Given the description of an element on the screen output the (x, y) to click on. 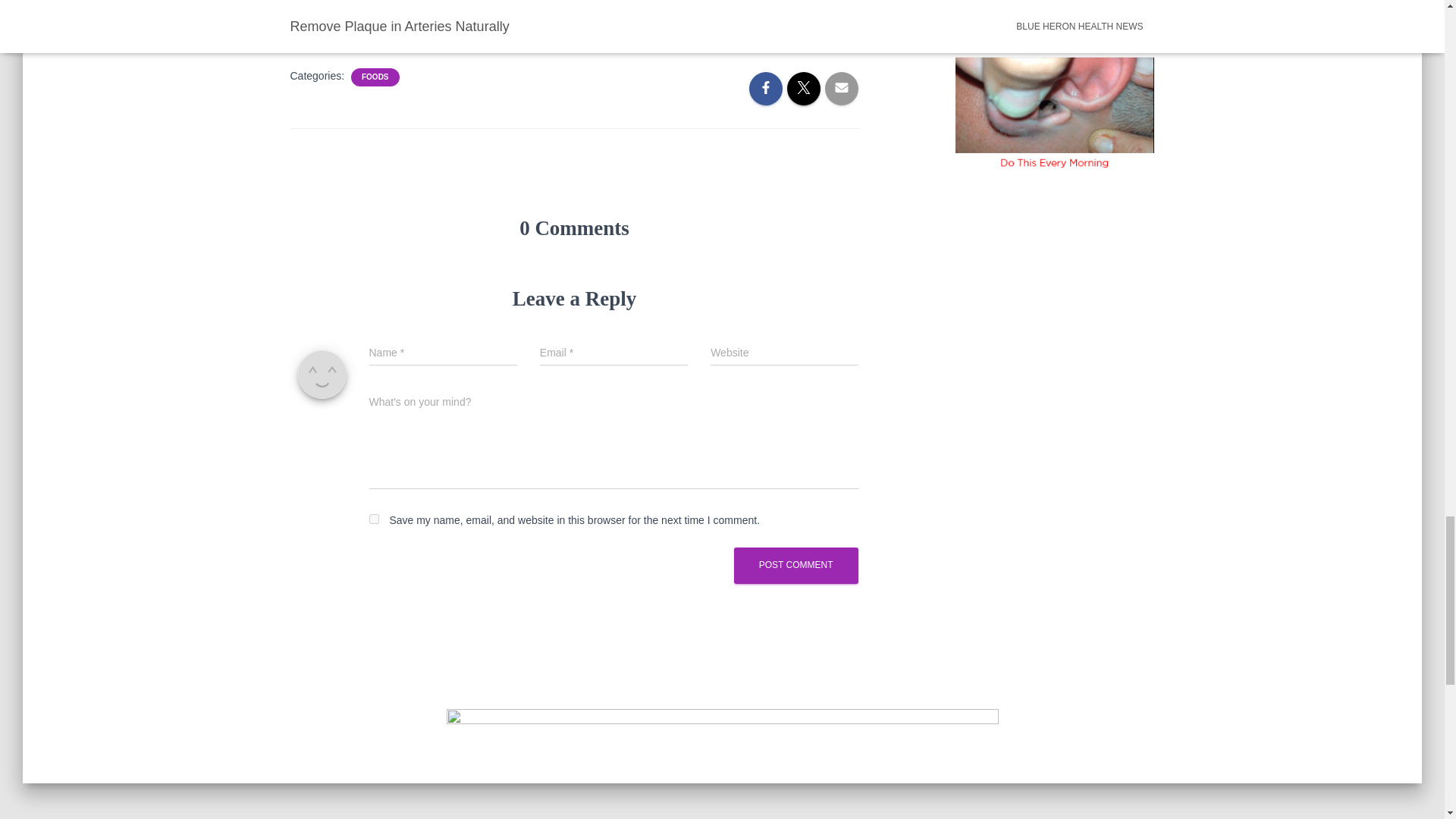
Post Comment (796, 565)
FOODS (374, 77)
yes (373, 519)
Post Comment (796, 565)
